Given the description of an element on the screen output the (x, y) to click on. 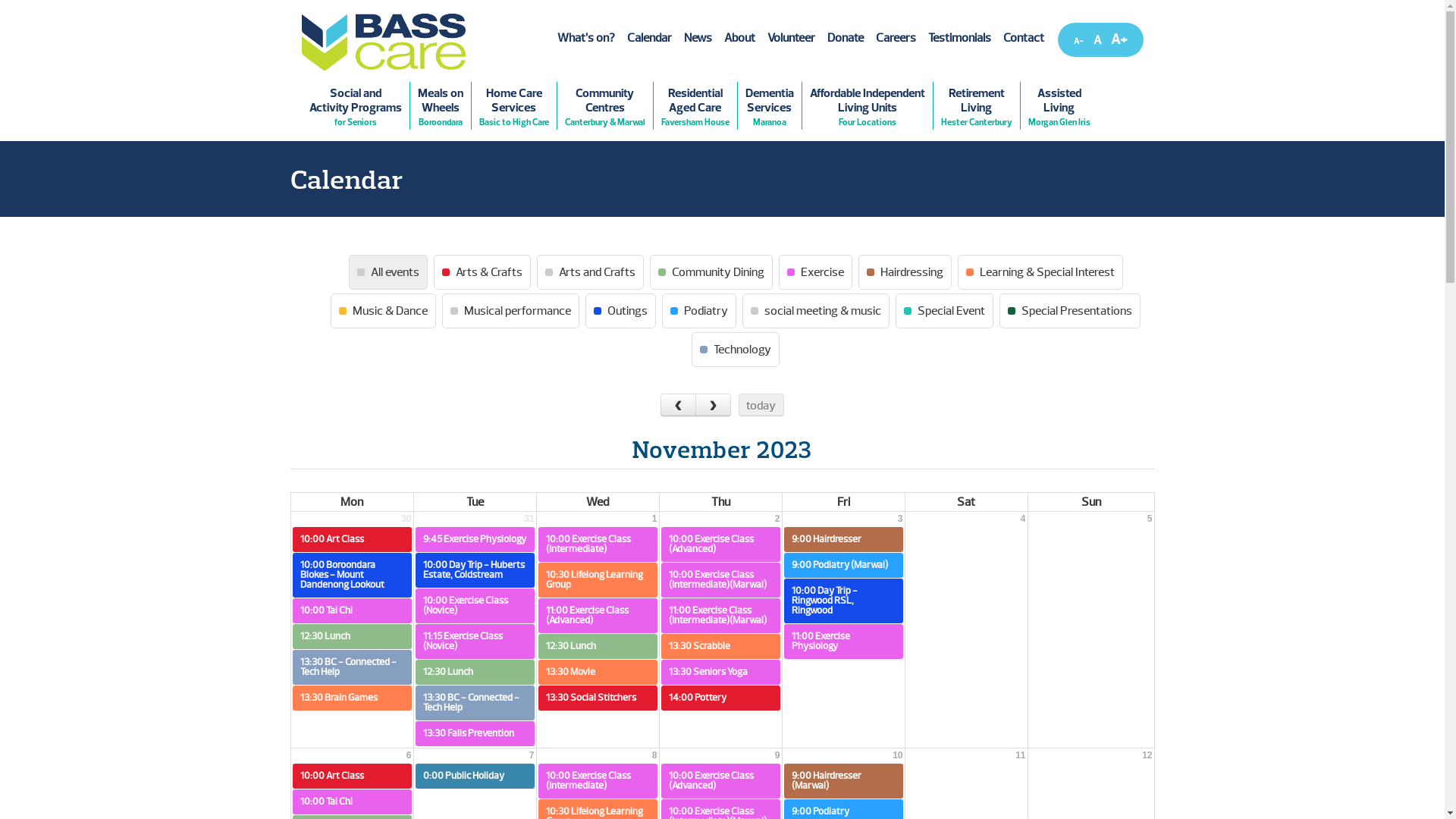
11:00 Exercise Class (Advanced)
    Element type: text (597, 615)
Testimonials Element type: text (959, 37)
10:00 Exercise Class (Advanced)
    Element type: text (720, 780)
Home Element type: hover (383, 41)
12:30 Lunch
    Element type: text (474, 671)
Dementia
Services Element type: text (768, 105)
Volunteer Element type: text (791, 37)
Home Care
Services Element type: text (513, 105)
10:00 Boroondara Blokes - Mount Dandenong Lookout
    Element type: text (351, 574)
12:30 Lunch
    Element type: text (351, 636)
14:00 Pottery
    Element type: text (720, 697)
10:00 Exercise Class (Intermediate)
    Element type: text (597, 544)
10:00 Exercise Class (Intermediate)(Marwal)
    Element type: text (720, 579)
13:30 Movie
    Element type: text (597, 671)
10:00 Art Class
    Element type: text (351, 539)
10:00 Art Class
    Element type: text (351, 775)
Retirement
Living Element type: text (975, 105)
10:30 Lifelong Learning Group
    Element type: text (597, 579)
10:00 Tai Chi
    Element type: text (351, 610)
12:30 Lunch
    Element type: text (597, 645)
10:00 Exercise Class (Intermediate)
    Element type: text (597, 780)
13:30 Seniors Yoga
    Element type: text (720, 671)
A Element type: text (1077, 40)
9:45 Exercise Physiology
    Element type: text (474, 539)
13:30 Social Stitchers
    Element type: text (597, 697)
Social and
Activity Programs Element type: text (355, 105)
Careers Element type: text (895, 37)
13:30 BC - Connected - Tech Help
    Element type: text (351, 666)
Residential
Aged Care Element type: text (695, 105)
Calendar Element type: text (648, 37)
A Element type: text (1119, 39)
10:00 Exercise Class (Novice)
    Element type: text (474, 605)
11:00 Exercise Physiology
    Element type: text (843, 641)
Contact Element type: text (1022, 37)
10:00 Exercise Class (Advanced)
    Element type: text (720, 544)
10:00 Tai Chi
    Element type: text (351, 801)
Assisted
Living Element type: text (1059, 105)
13:30 Scrabble
    Element type: text (720, 645)
Donate Element type: text (844, 37)
10:00 Day Trip - Ringwood RSL, Ringwood
    Element type: text (843, 600)
News Element type: text (697, 37)
13:30 Falls Prevention
    Element type: text (474, 733)
Meals on
Wheels Element type: text (439, 105)
About Element type: text (738, 37)
10:00 Day Trip - Huberts Estate, Coldstream
    Element type: text (474, 569)
Affordable Independent
Living Units Element type: text (867, 105)
A Element type: text (1096, 39)
9:00 Hairdresser
    Element type: text (843, 539)
11:00 Exercise Class (Intermediate)(Marwal)
    Element type: text (720, 615)
13:30 Brain Games
    Element type: text (351, 697)
9:00 Podiatry (Marwal)
    Element type: text (843, 564)
Community
Centres Element type: text (604, 105)
13:30 BC - Connected - Tech Help
    Element type: text (474, 702)
0:00 Public Holiday
    Element type: text (474, 775)
11:15 Exercise Class (Novice)
    Element type: text (474, 641)
9:00 Hairdresser (Marwal)
    Element type: text (843, 780)
